Given the description of an element on the screen output the (x, y) to click on. 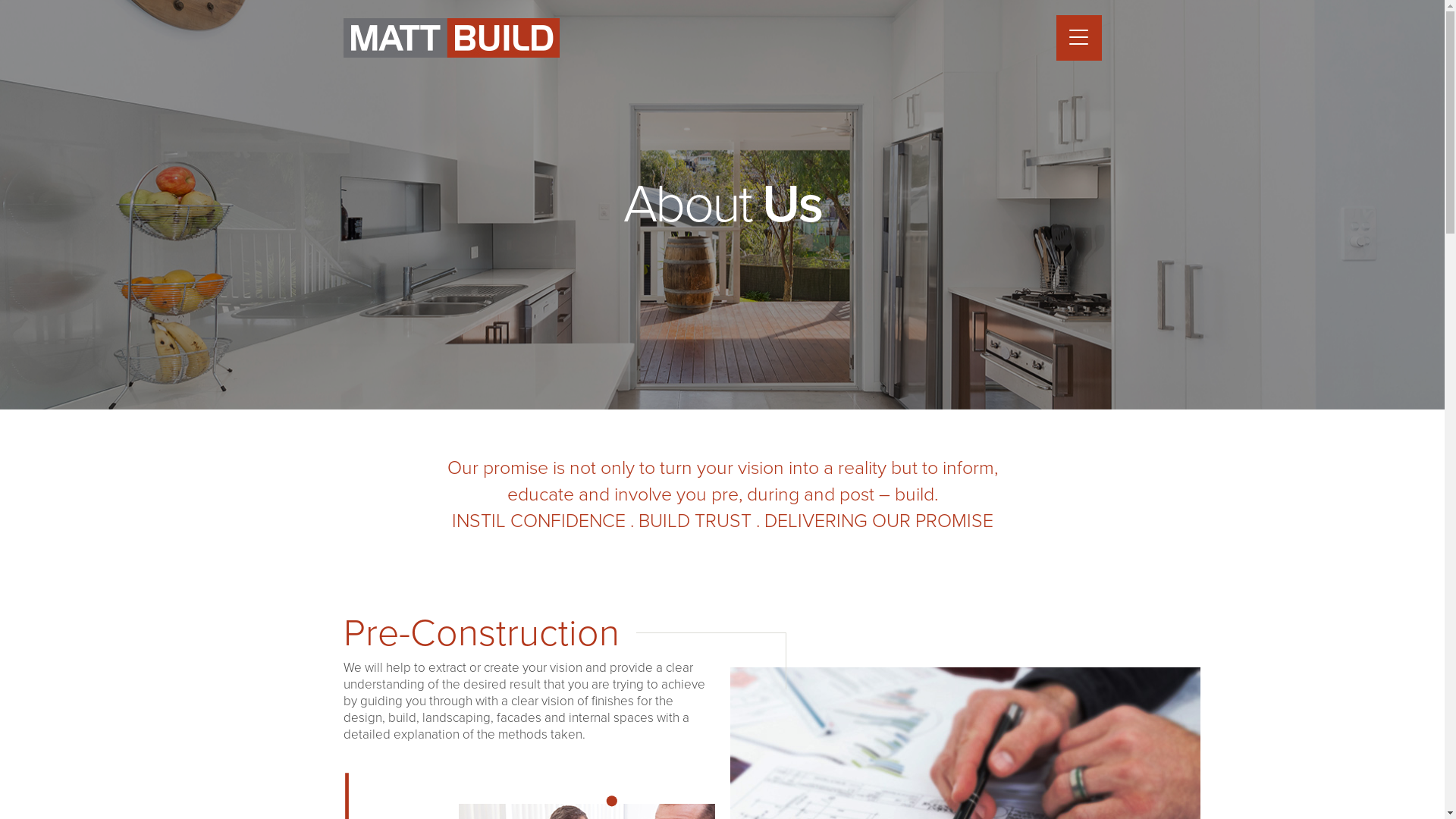
MattBuild Element type: text (450, 37)
